Given the description of an element on the screen output the (x, y) to click on. 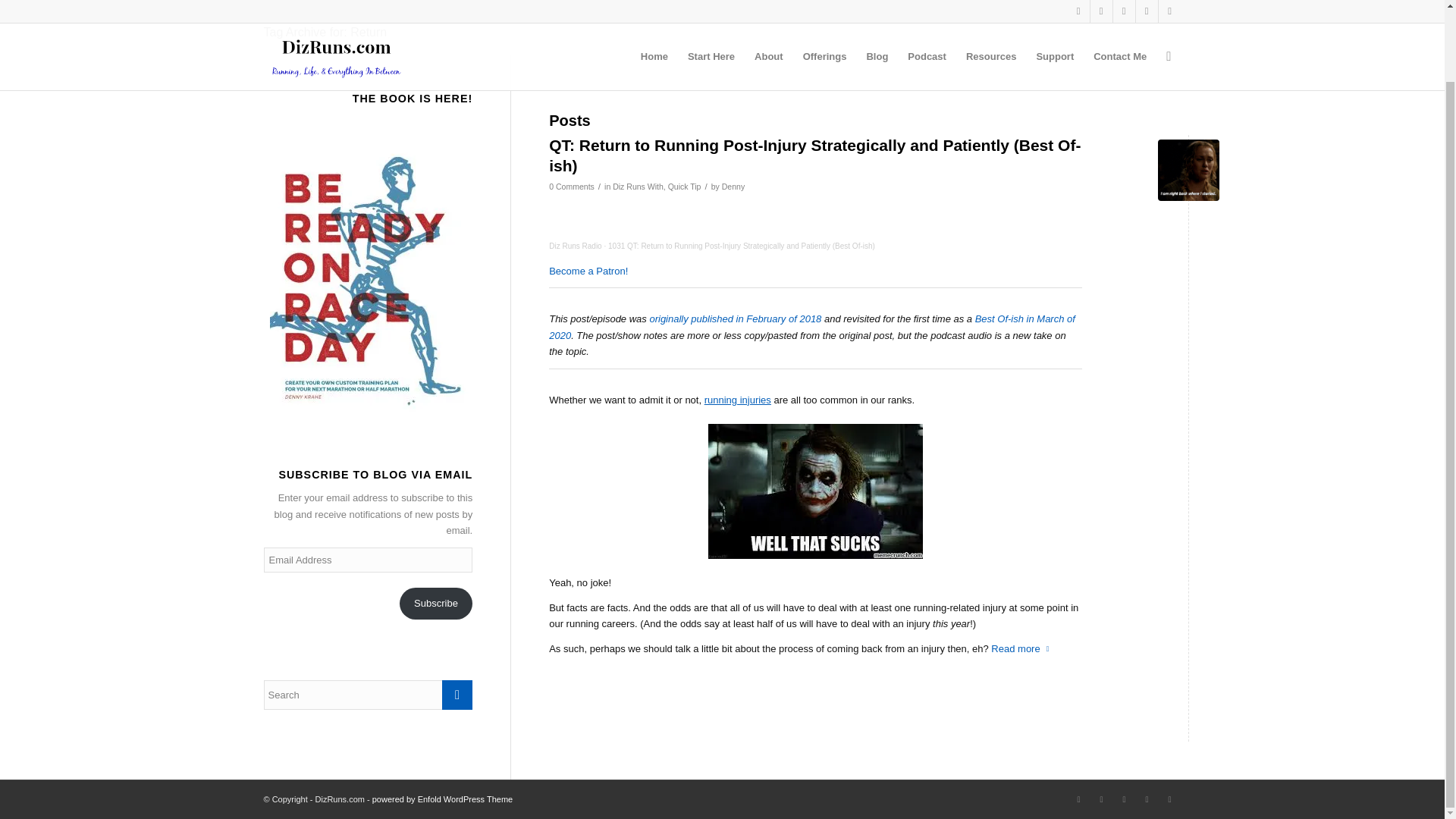
Quick Tip (684, 185)
Start Here (711, 5)
Best Of-ish in March of 2020 (811, 326)
Diz Runs Radio (574, 245)
Diz Runs Radio (574, 245)
About (768, 5)
Become a Patron! (587, 270)
Contact Me (1119, 5)
Twitter (1078, 798)
Permanent Link: Tag Archive for: Return (325, 31)
